Given the description of an element on the screen output the (x, y) to click on. 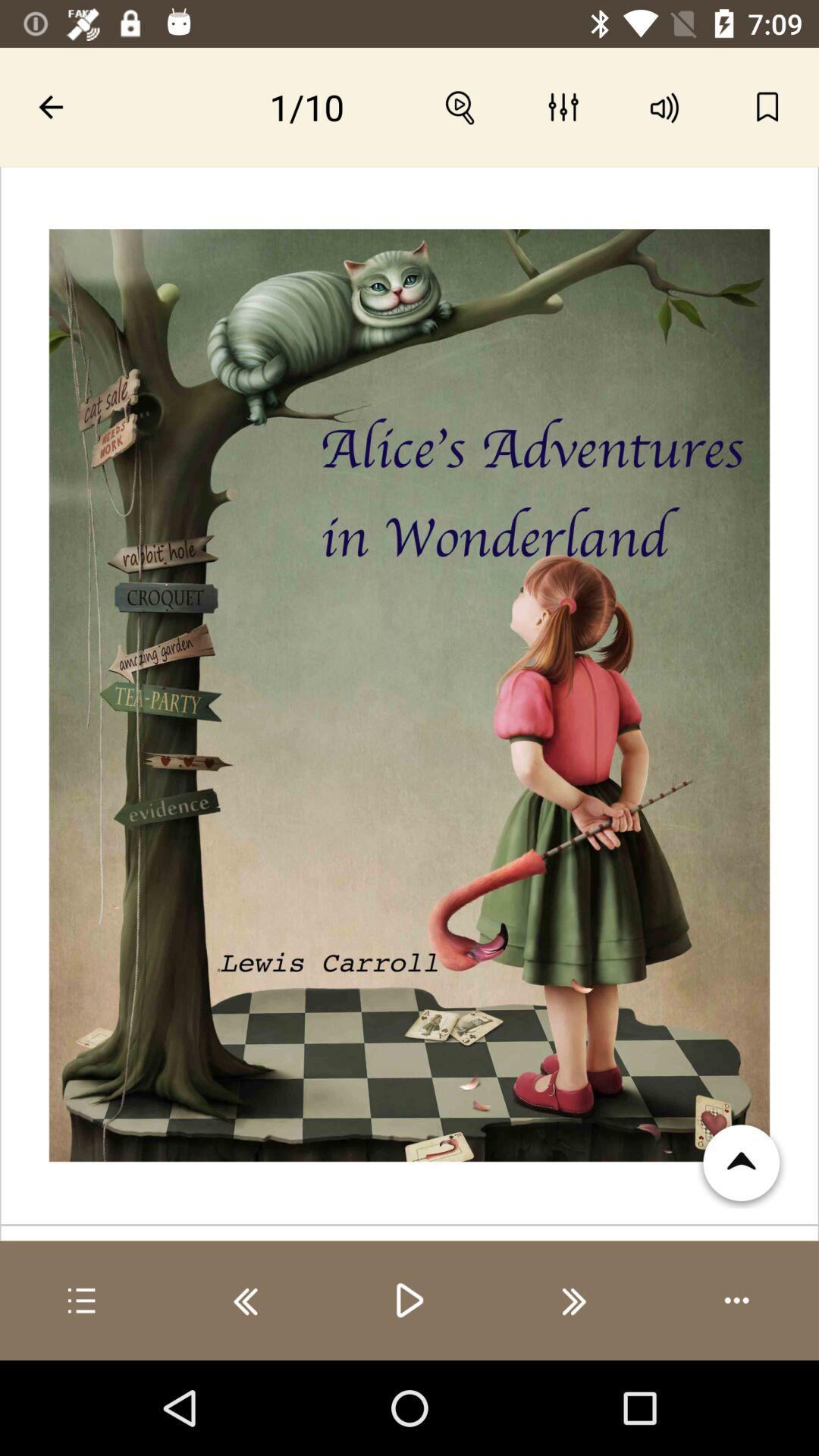
bookmark track (767, 106)
